Given the description of an element on the screen output the (x, y) to click on. 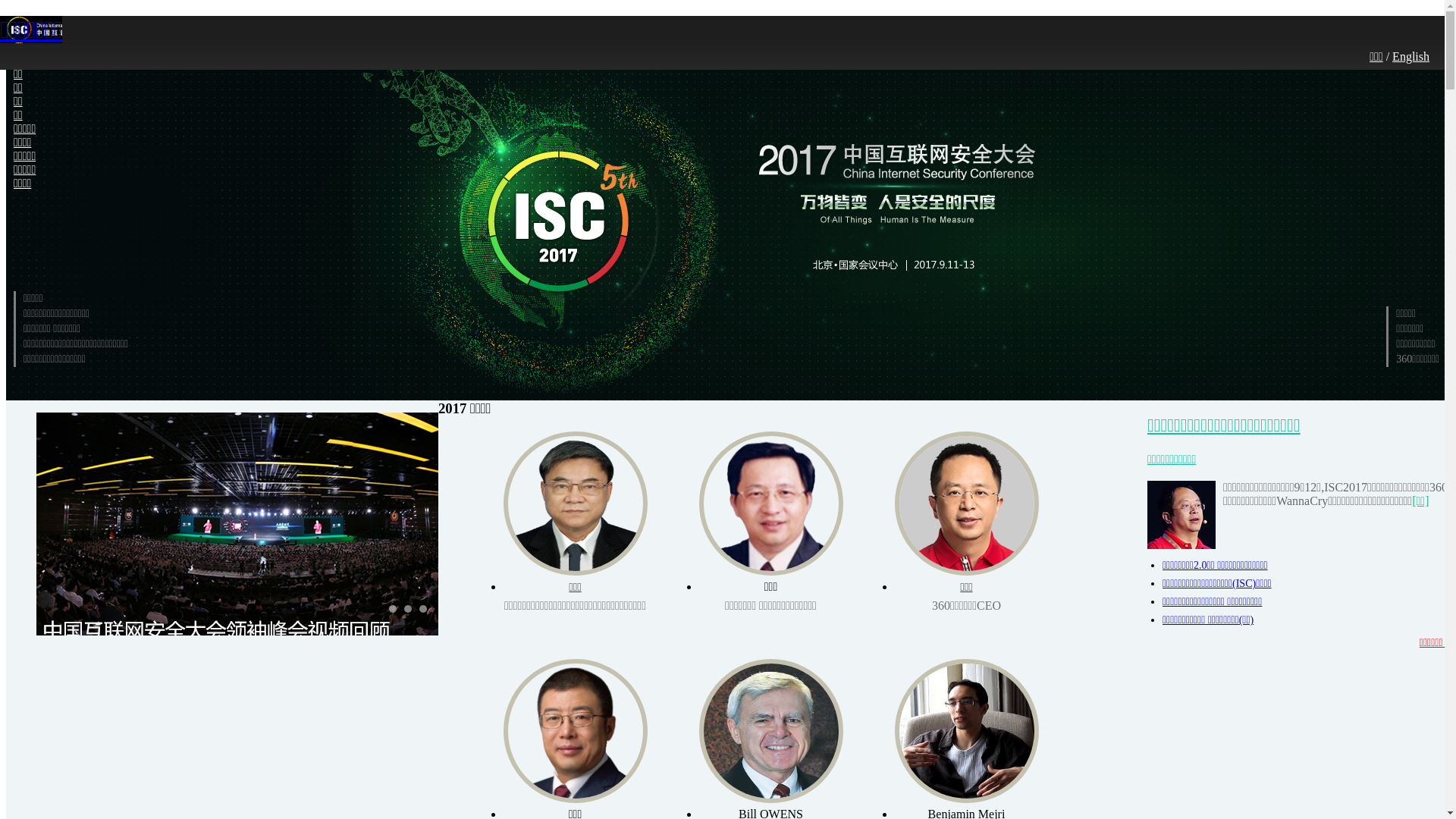
English Element type: text (1410, 56)
